Given the description of an element on the screen output the (x, y) to click on. 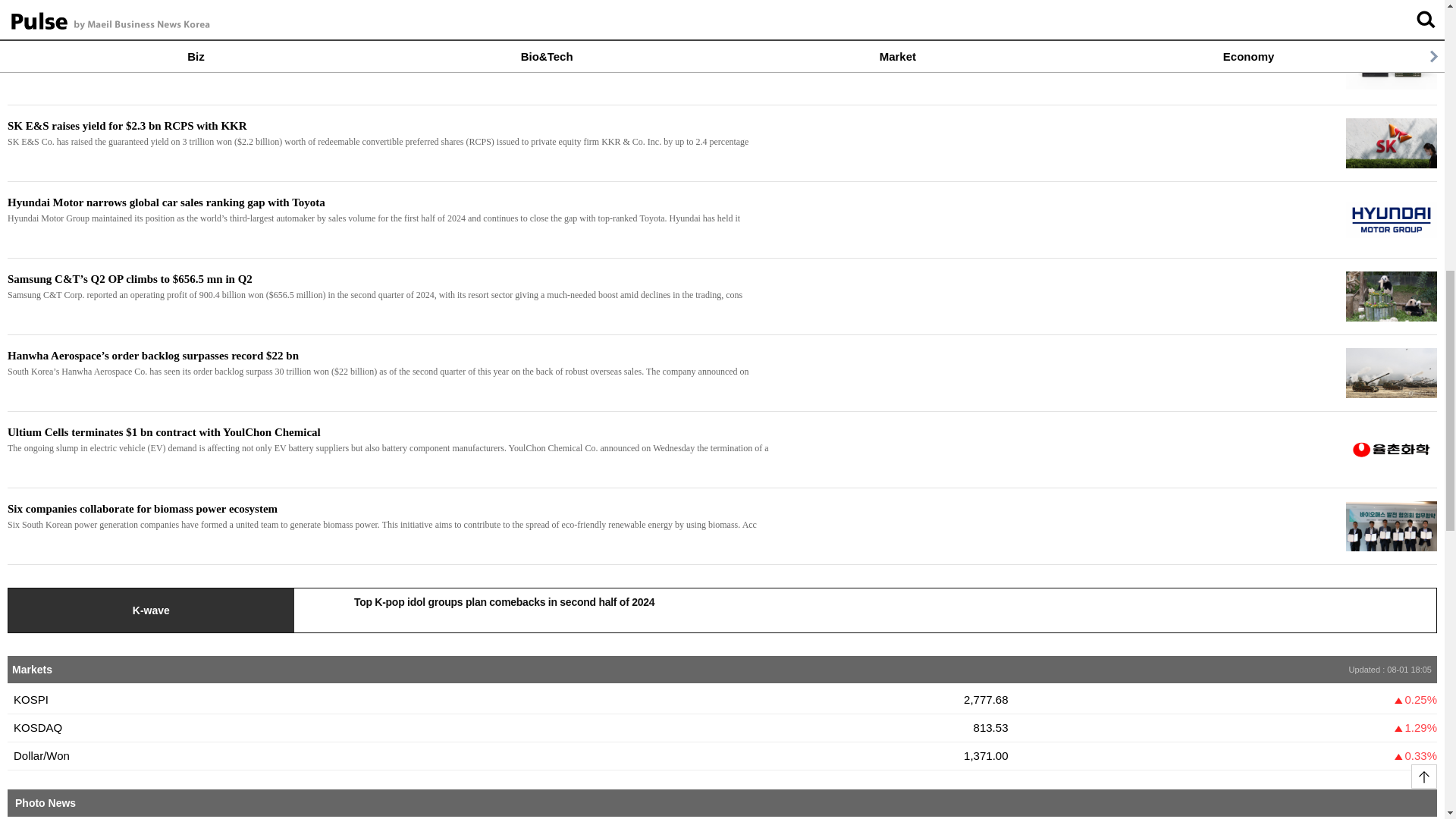
K-wave (151, 610)
Markets (31, 669)
Top K-pop idol groups plan comebacks in second half of 2024 (864, 598)
